Given the description of an element on the screen output the (x, y) to click on. 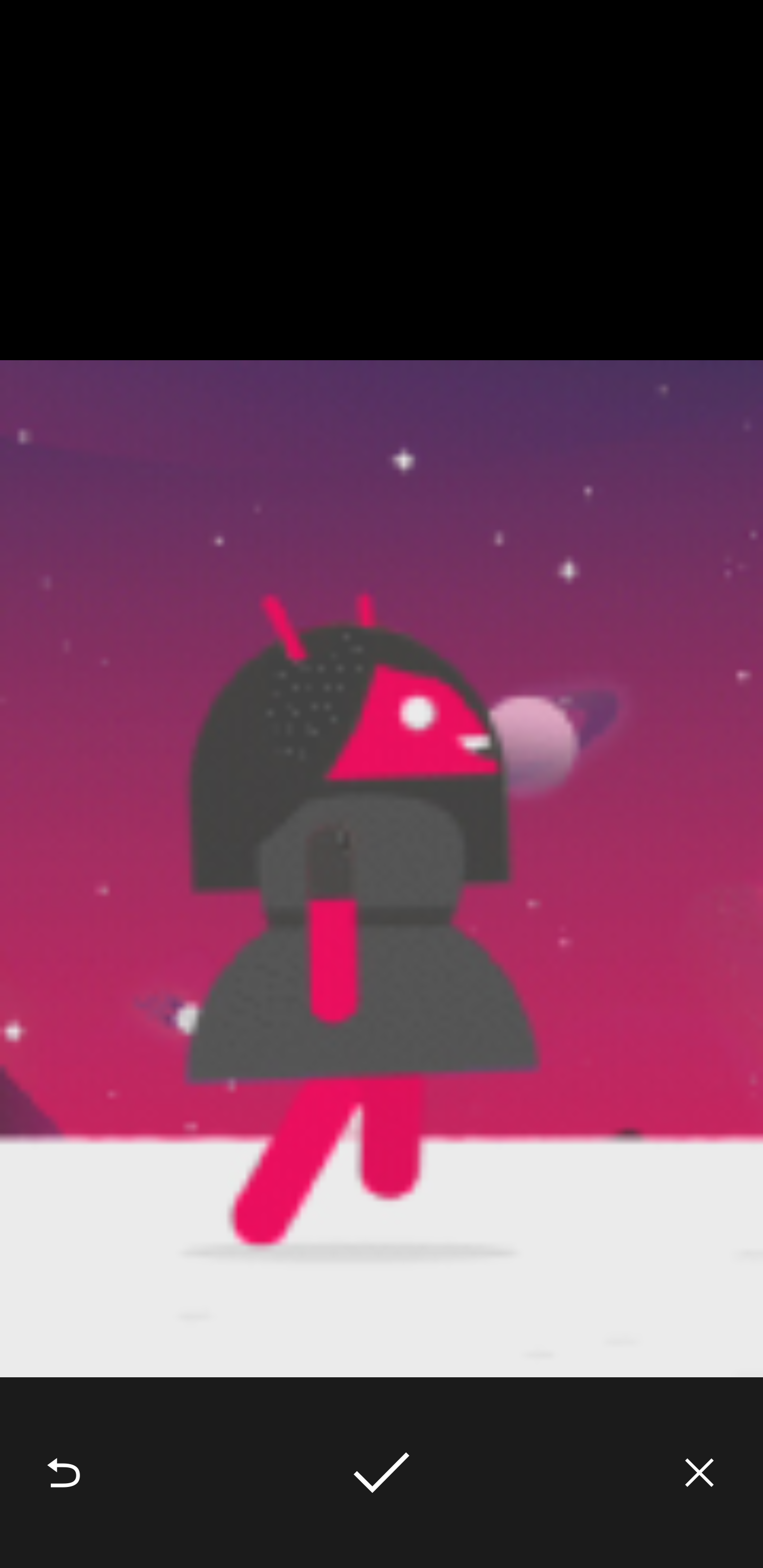
Done (381, 1472)
Retake (63, 1472)
Cancel (699, 1472)
